Given the description of an element on the screen output the (x, y) to click on. 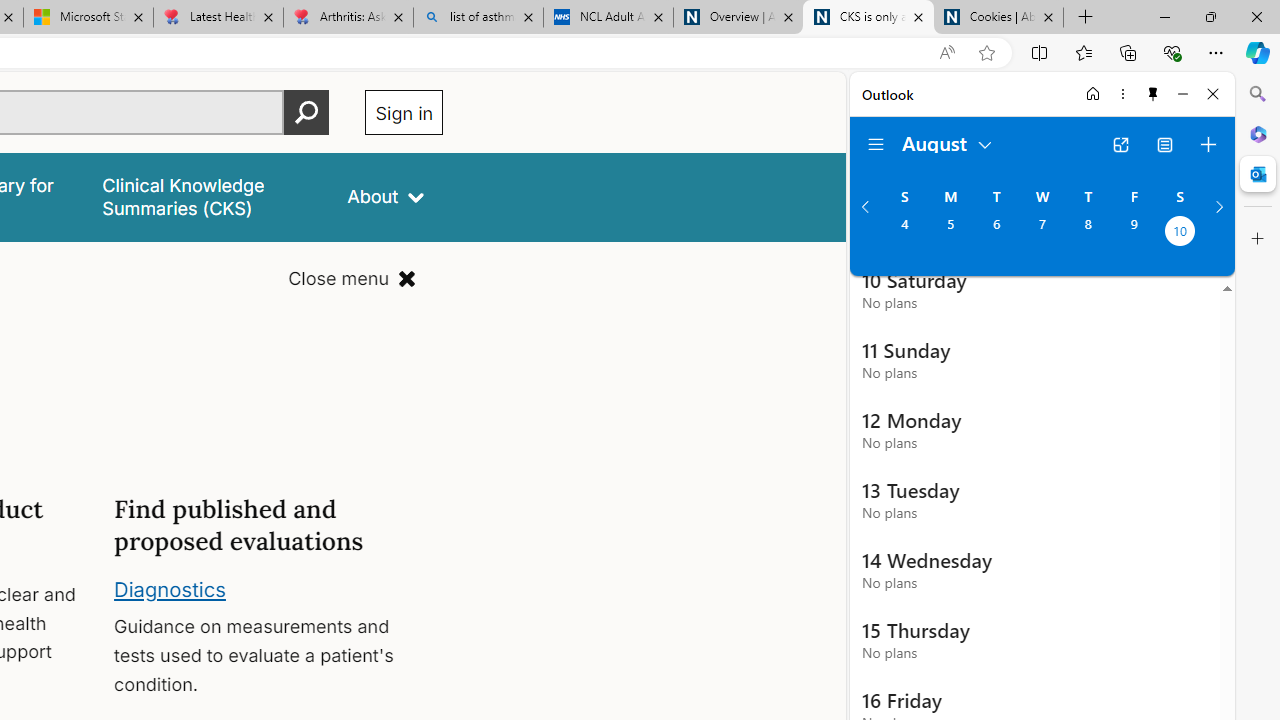
Diagnostics (169, 588)
Wednesday, August 7, 2024.  (1042, 233)
August (948, 141)
Monday, August 5, 2024.  (950, 233)
View Switcher. Current view is Agenda view (1165, 144)
